Given the description of an element on the screen output the (x, y) to click on. 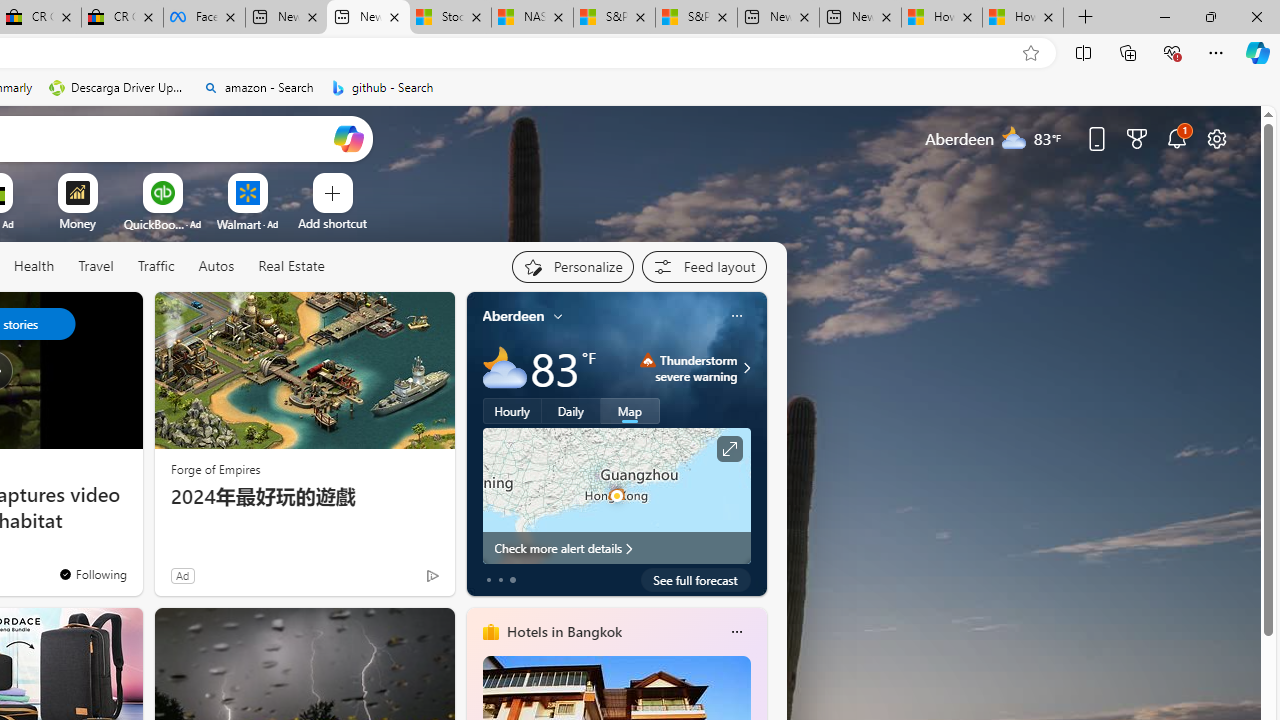
Forge of Empires (215, 468)
Class: icon-img (736, 632)
Class: weather-arrow-glyph (746, 367)
Health (33, 267)
See full forecast (695, 579)
Notifications (1176, 138)
amazon - Search (258, 88)
Mostly cloudy (504, 368)
github - Search (381, 88)
